Given the description of an element on the screen output the (x, y) to click on. 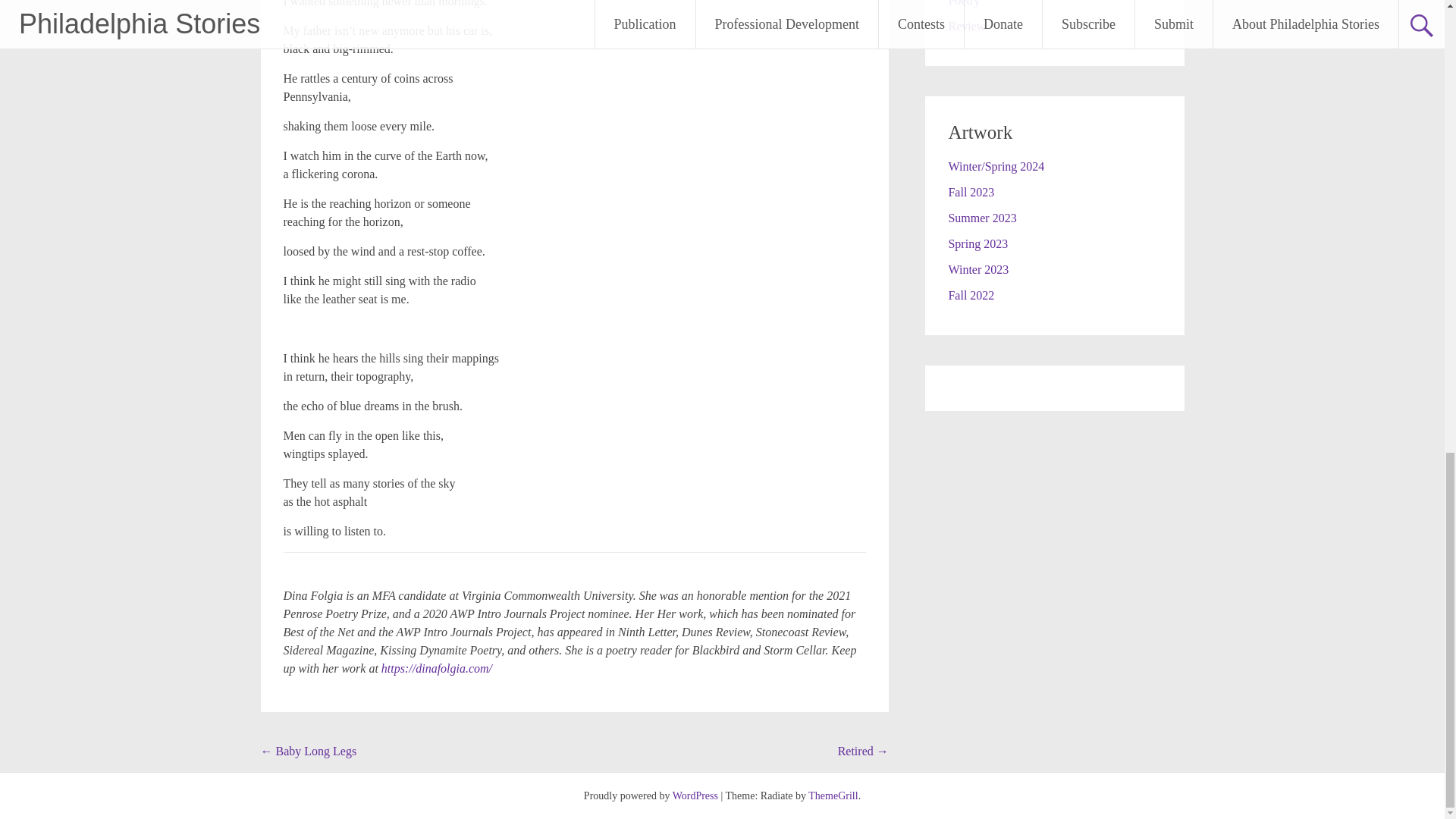
Poetry (963, 3)
Fall 2023 (970, 192)
Review (966, 25)
